Given the description of an element on the screen output the (x, y) to click on. 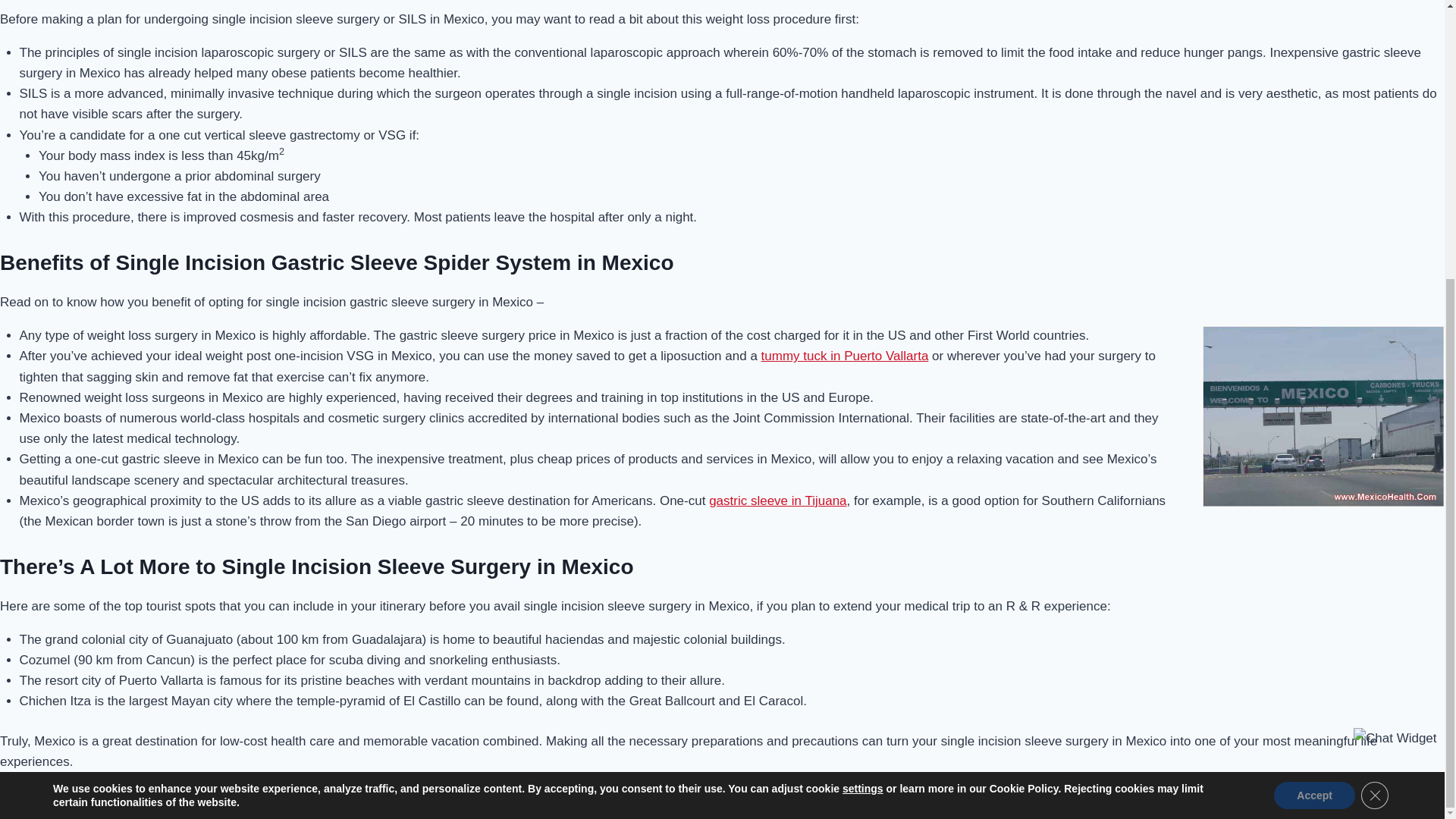
gastric sleeve in Tijuana (777, 500)
Gastric Sleeve in Tijuana (777, 500)
Tummy Tuck in Puerto Vallarta, Mexico (844, 355)
Accept (1314, 379)
Close GDPR Cookie Banner (1375, 379)
tummy tuck in Puerto Vallarta (844, 355)
